Given the description of an element on the screen output the (x, y) to click on. 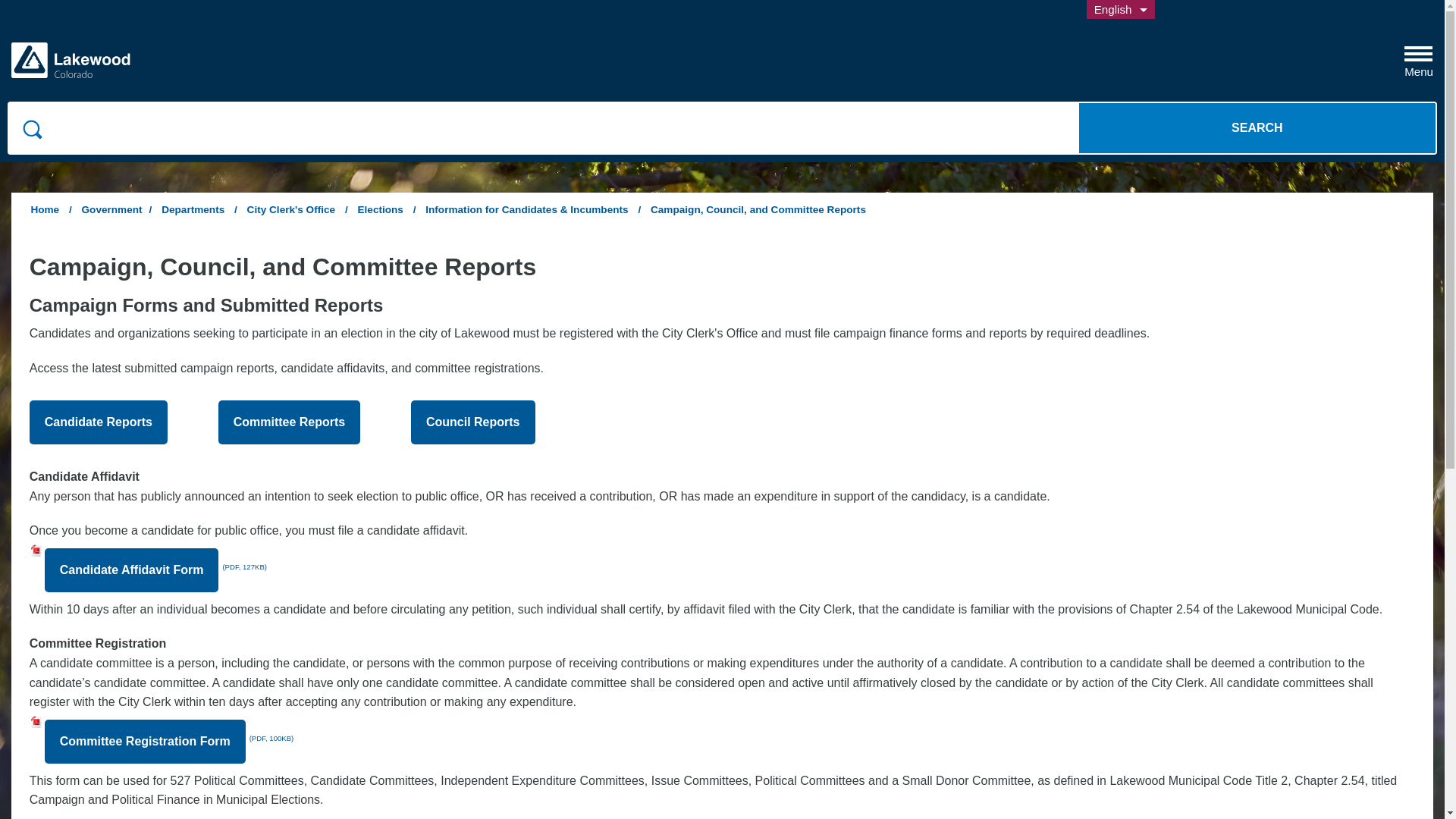
Search (1256, 128)
Search (1256, 128)
Search (1120, 9)
City of Lakewood - Home - Logo (1256, 128)
CCO-Candidate-Affidavit-2019.pdf (71, 60)
Menu (147, 569)
CCO-Committee-Registration-Form-2019.pdf (1418, 55)
